Given the description of an element on the screen output the (x, y) to click on. 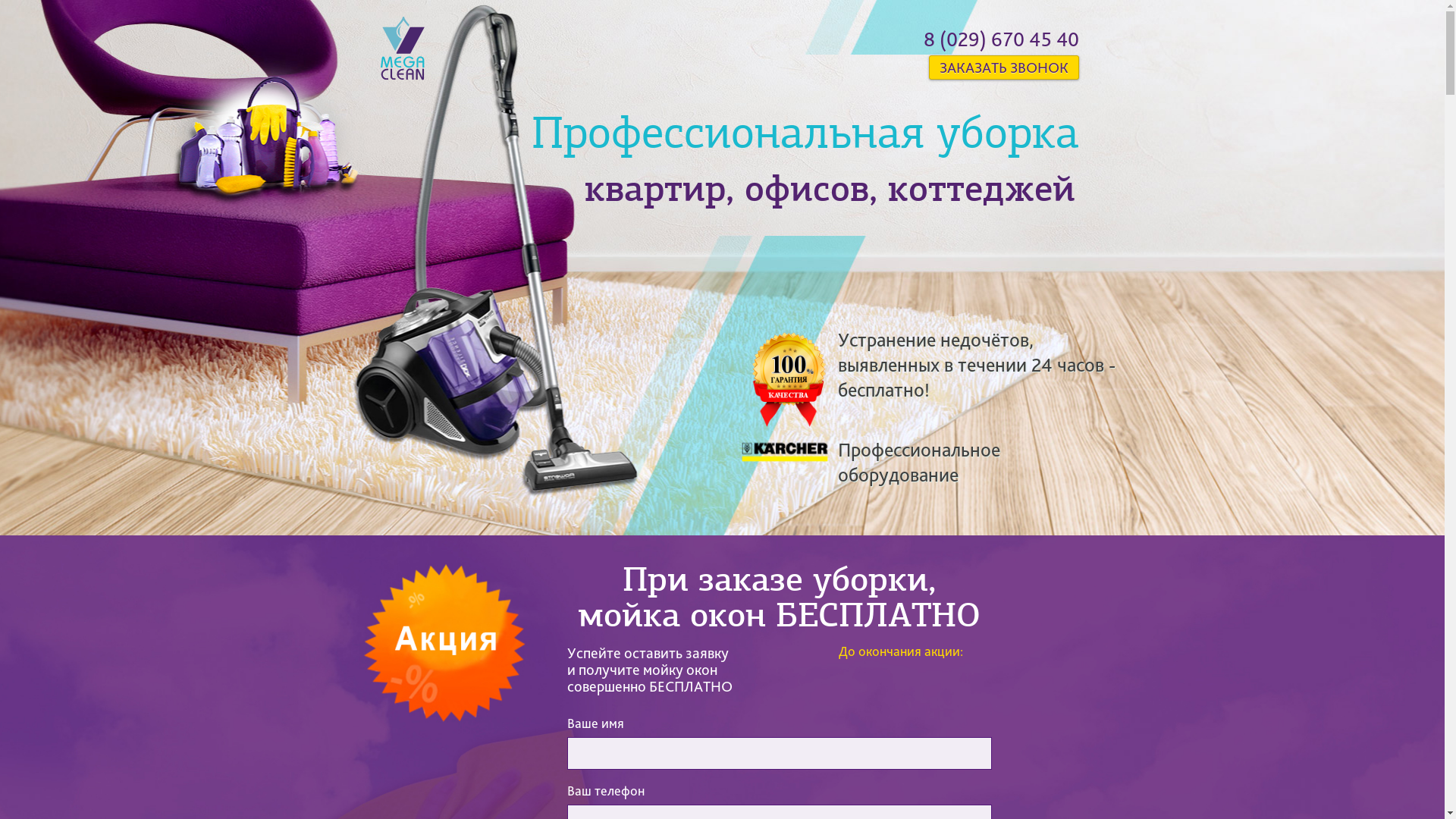
                     Element type: text (410, 64)
